Given the description of an element on the screen output the (x, y) to click on. 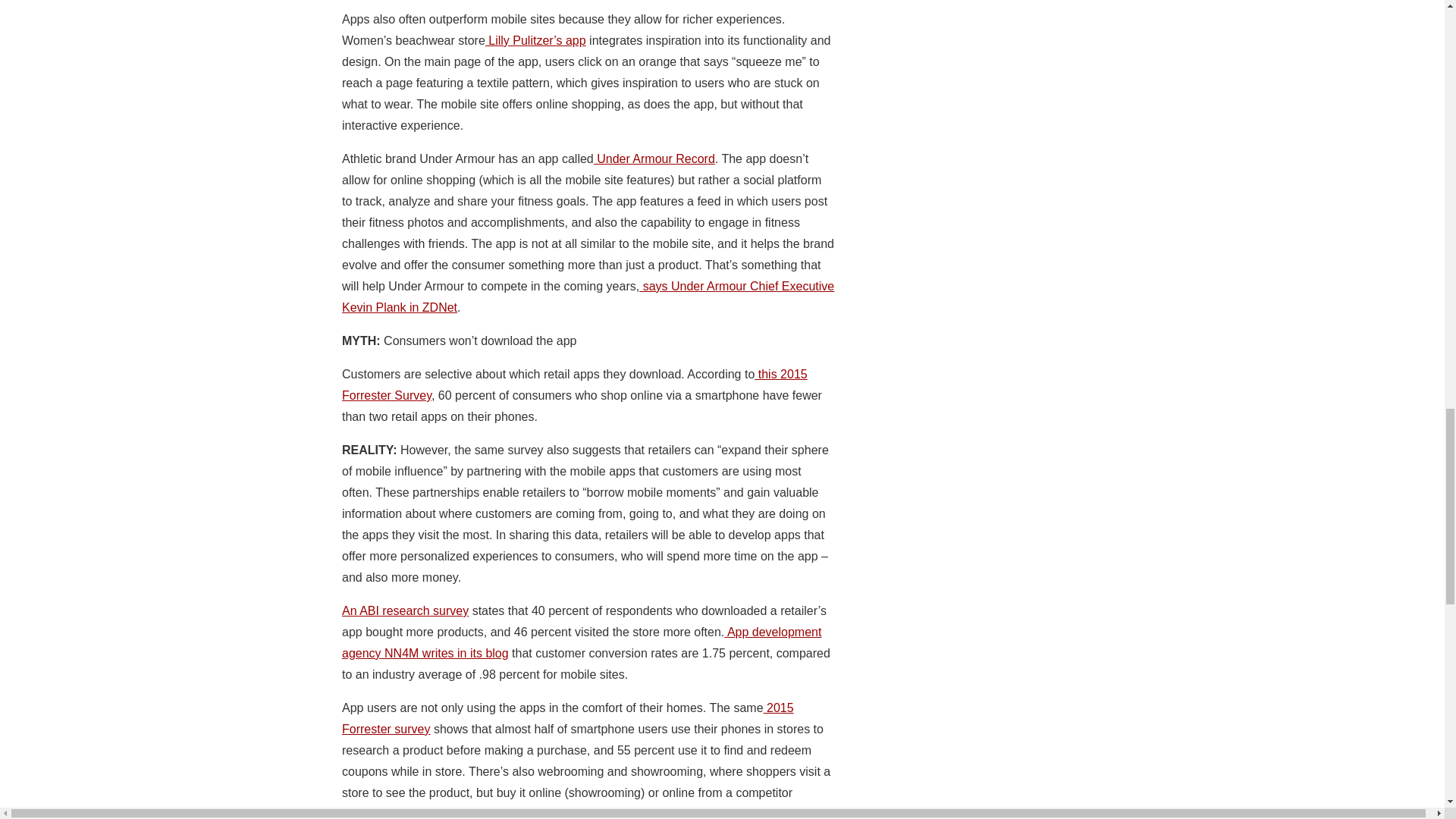
Under Armour Record (654, 158)
